Given the description of an element on the screen output the (x, y) to click on. 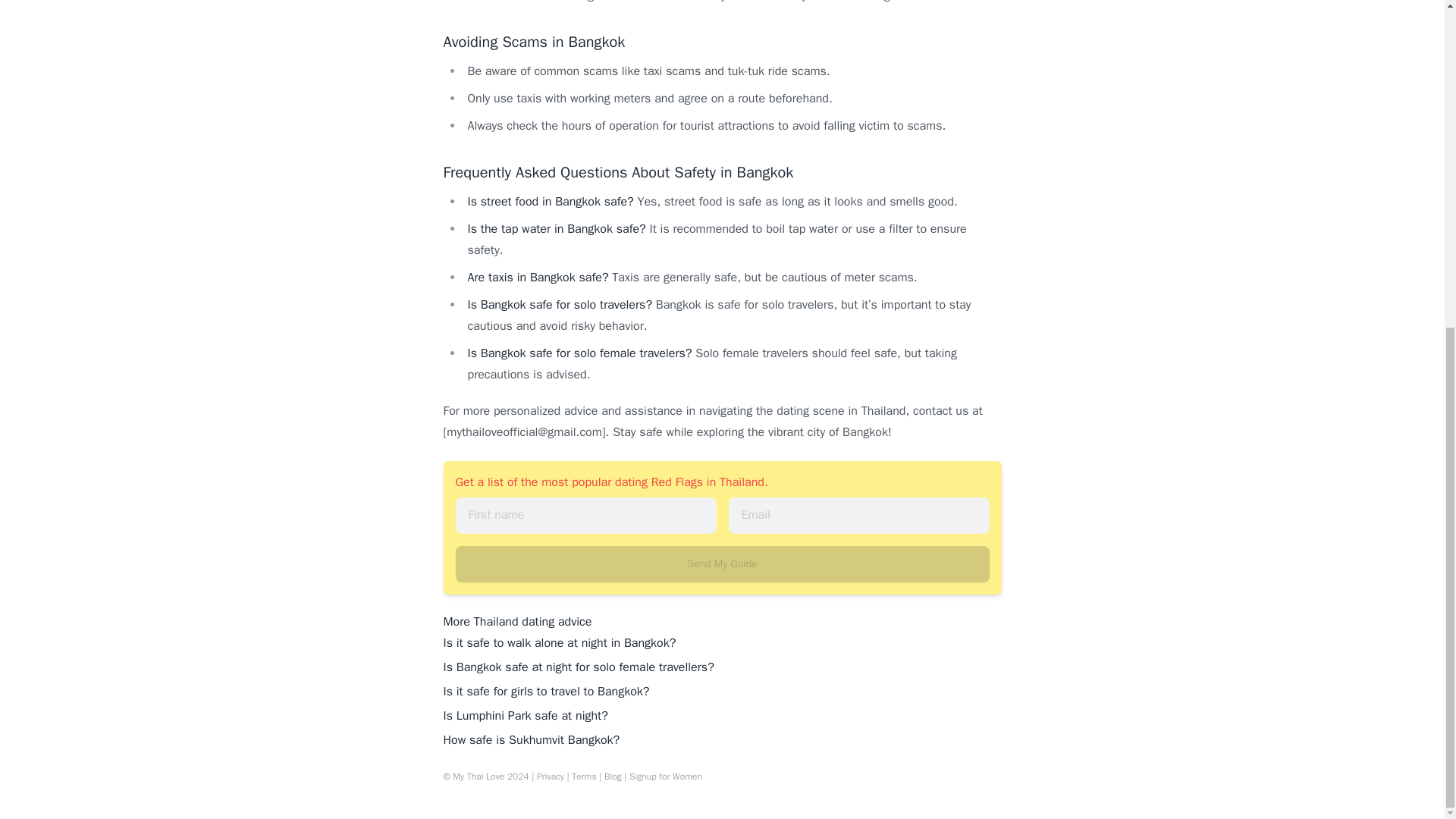
How safe is Sukhumvit Bangkok? (531, 739)
Terms (583, 776)
Is Lumphini Park safe at night? (524, 715)
Send My Guide (721, 564)
Blog (612, 776)
My Thai Love (477, 776)
Privacy (550, 776)
Is Bangkok safe at night for solo female travellers? (577, 667)
Is it safe for girls to travel to Bangkok? (545, 691)
Signup for Women (664, 776)
Is it safe to walk alone at night in Bangkok? (558, 642)
